Given the description of an element on the screen output the (x, y) to click on. 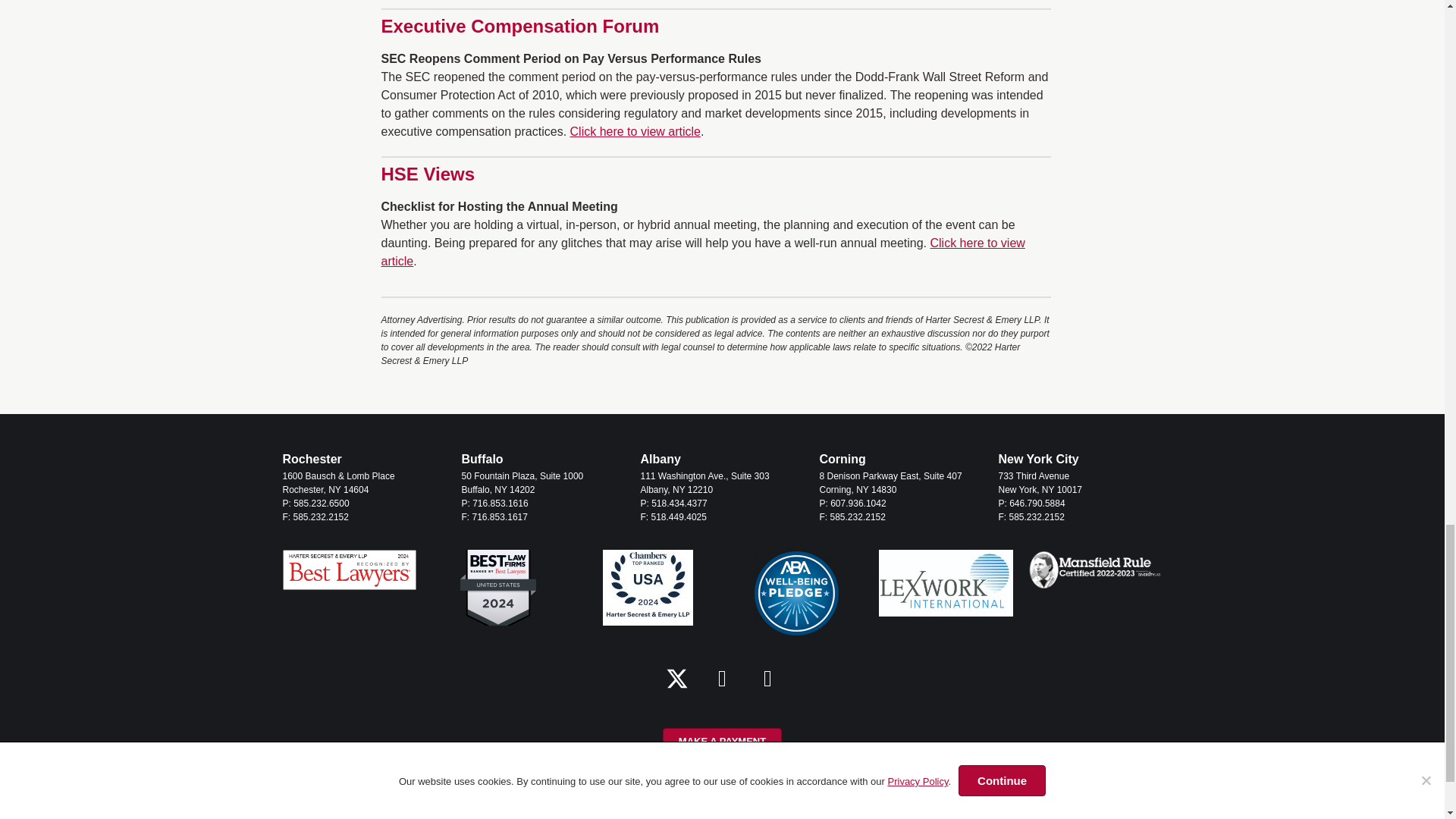
Chambers 2024 (647, 587)
Best Law Firms Standard Badge (497, 587)
Well Being Logo 2019 Web (796, 593)
